Given the description of an element on the screen output the (x, y) to click on. 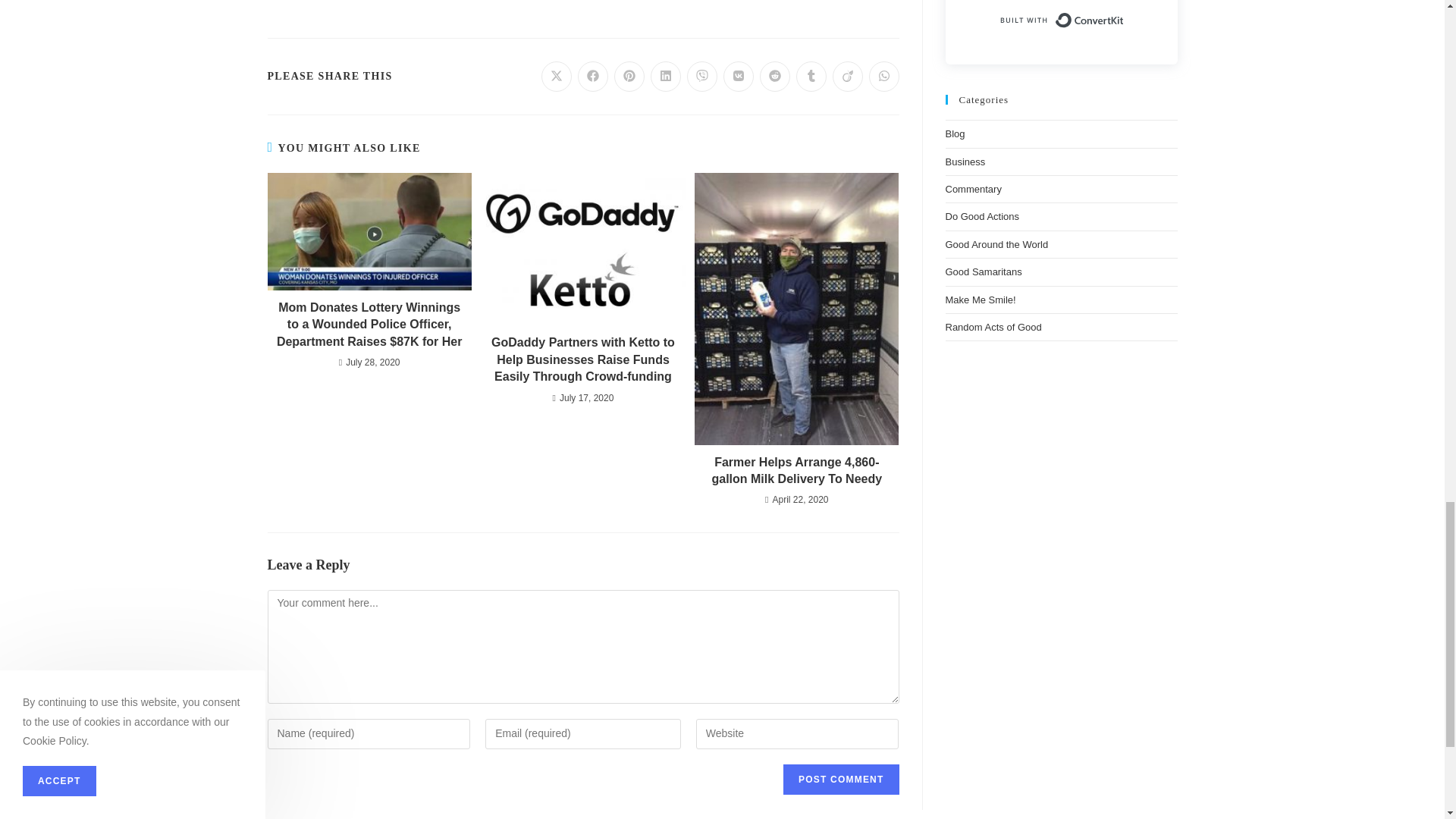
Post Comment (840, 779)
Post Comment (840, 779)
Farmer Helps Arrange 4,860-gallon Milk Delivery To Needy (796, 471)
